Given the description of an element on the screen output the (x, y) to click on. 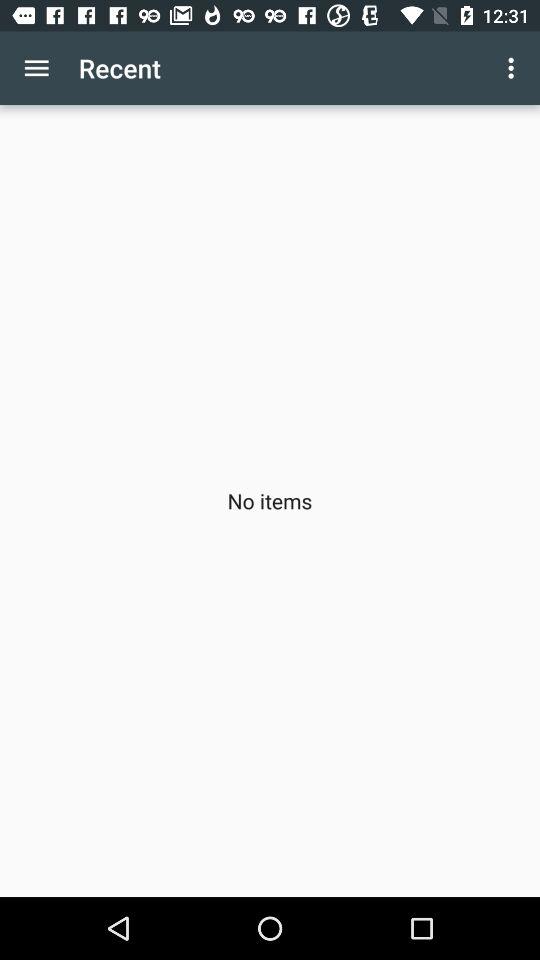
choose the app above no items icon (513, 67)
